Given the description of an element on the screen output the (x, y) to click on. 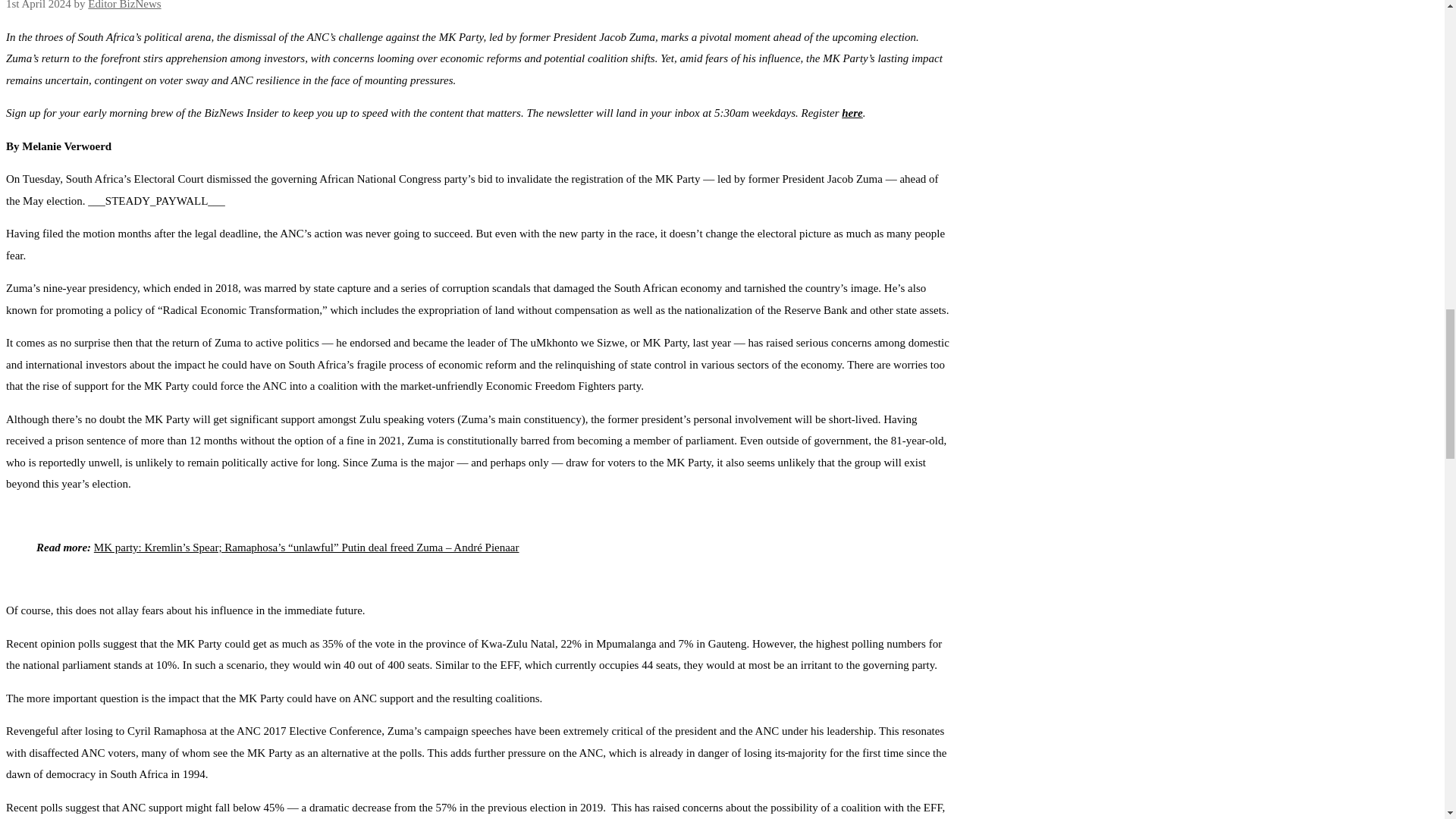
Editor BizNews (123, 4)
View all posts by Editor BizNews (123, 4)
here (852, 112)
